Given the description of an element on the screen output the (x, y) to click on. 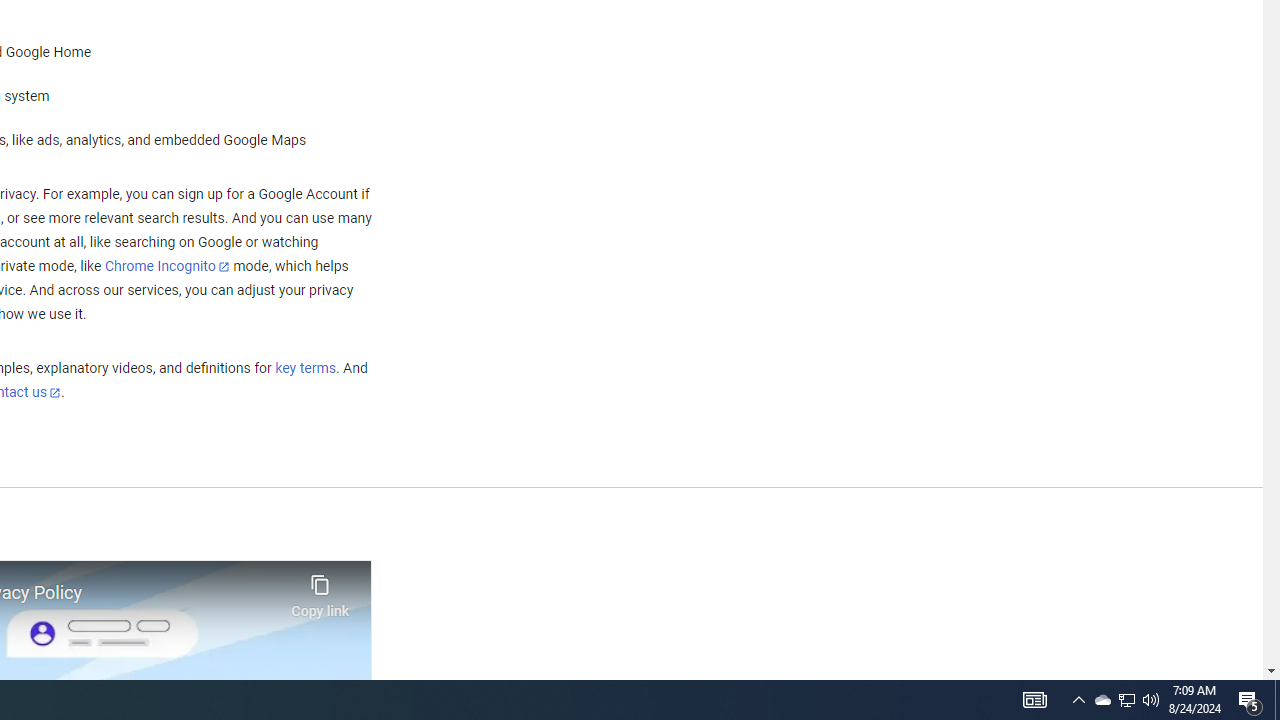
key terms (305, 369)
Copy link (319, 591)
Chrome Incognito (166, 266)
